Given the description of an element on the screen output the (x, y) to click on. 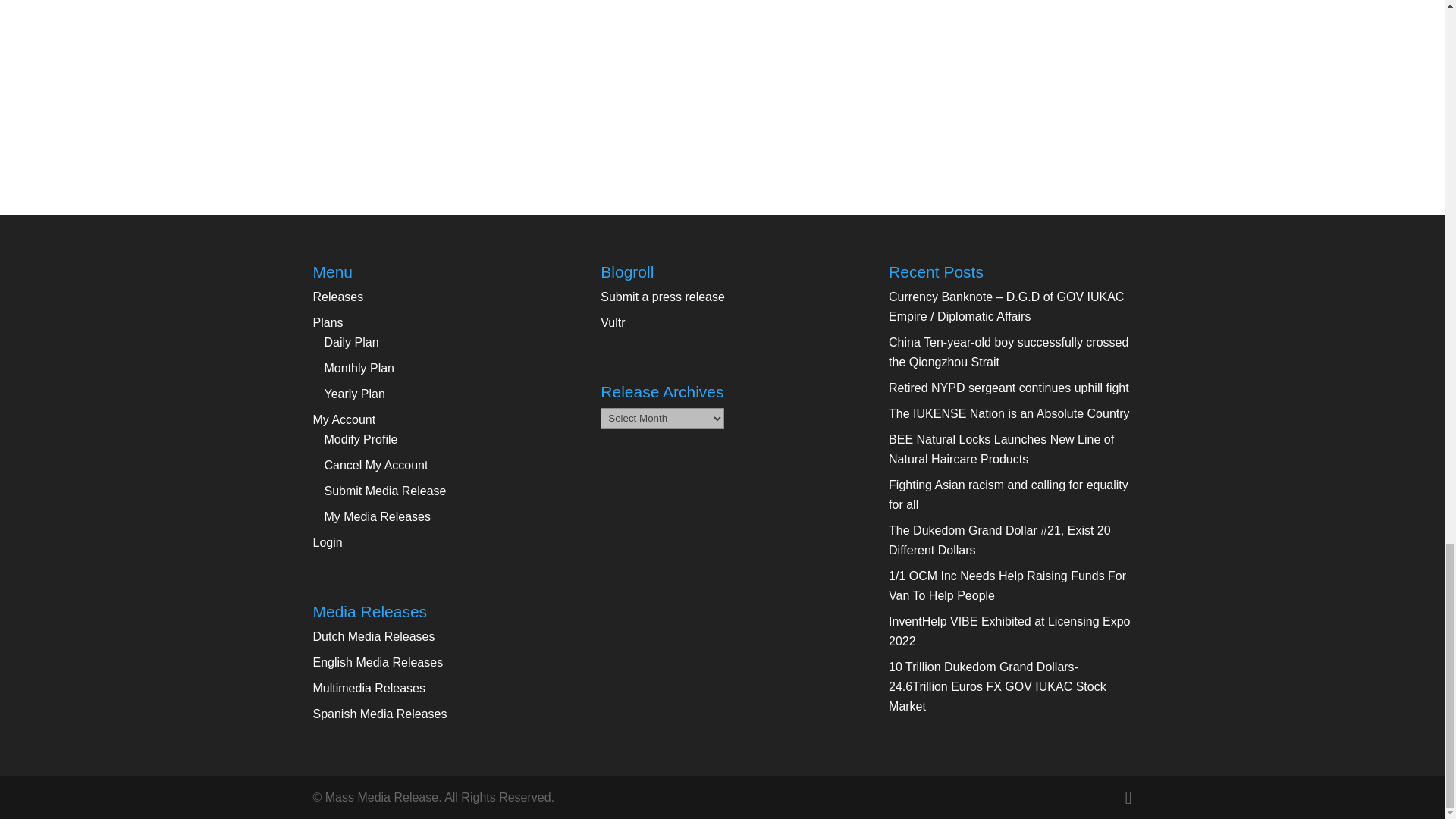
Releases (337, 296)
My Account (344, 419)
Modify Profile (360, 439)
Yearly Plan (354, 393)
Monthly Plan (359, 367)
Plans (327, 322)
Cancel My Account (376, 464)
Submit Media Release (385, 490)
The Ultimate Responsive WordPress Theme Builder (611, 322)
Daily Plan (351, 341)
